Given the description of an element on the screen output the (x, y) to click on. 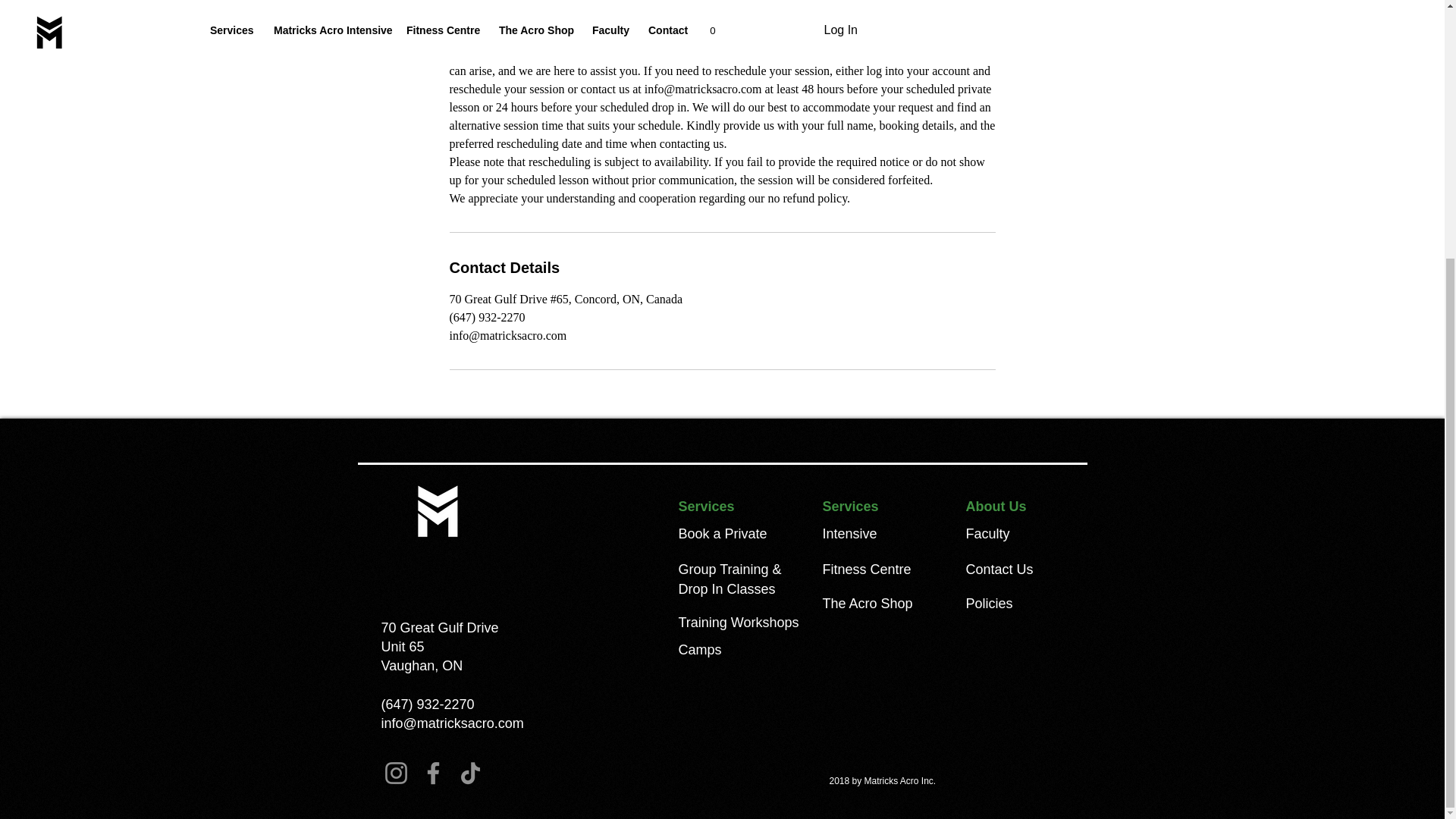
Camps (699, 649)
Training Workshops (737, 622)
Policies (989, 603)
Fitness Centre (866, 569)
Intensive (849, 533)
Faculty  (989, 533)
The Acro Shop (867, 603)
Book a Private (722, 533)
Contact Us (999, 569)
